Given the description of an element on the screen output the (x, y) to click on. 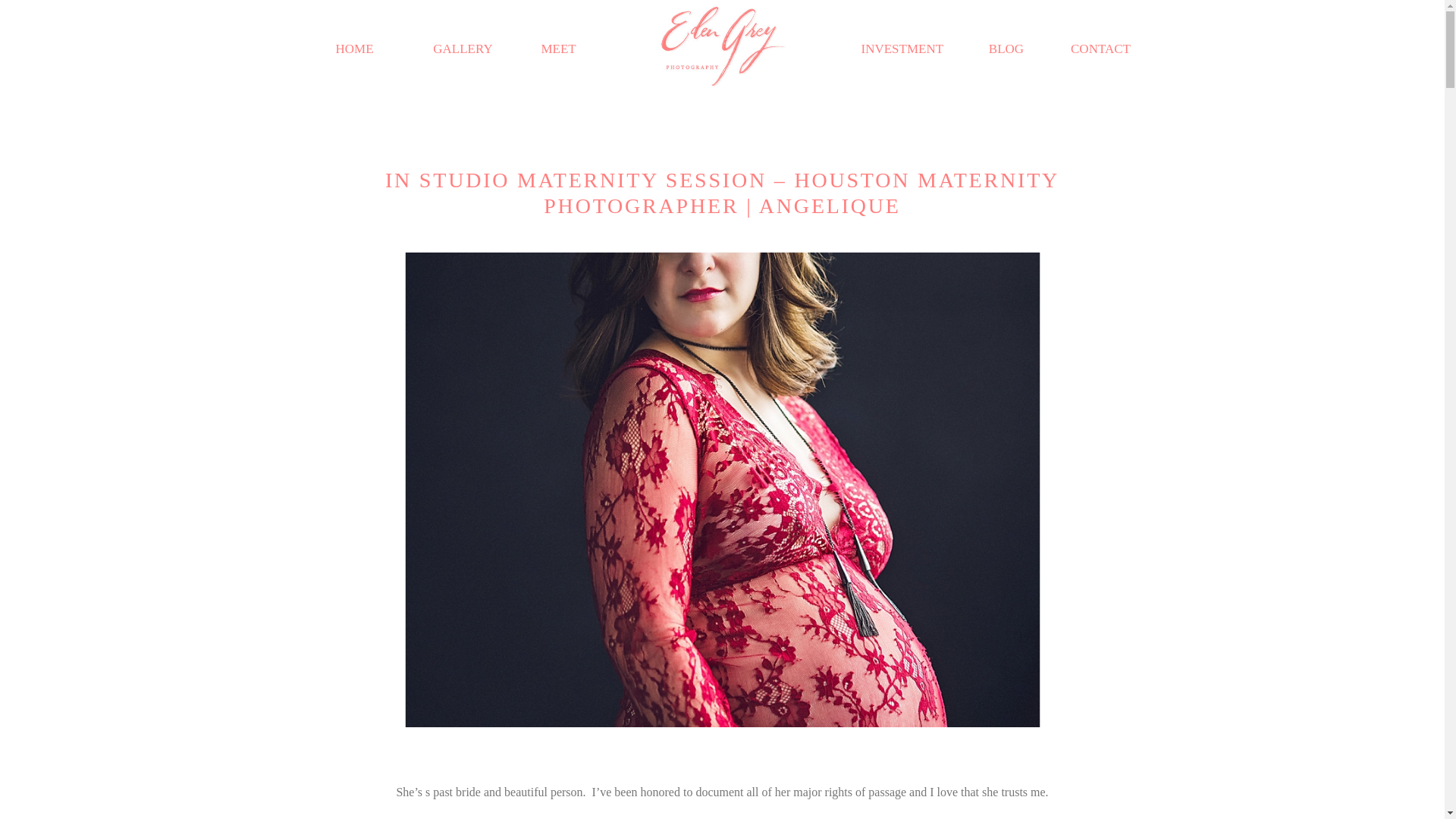
HOME (354, 49)
CONTACT (1099, 49)
GALLERY (463, 49)
BLOG (1006, 49)
INVESTMENT (898, 49)
MEET  (559, 49)
